Given the description of an element on the screen output the (x, y) to click on. 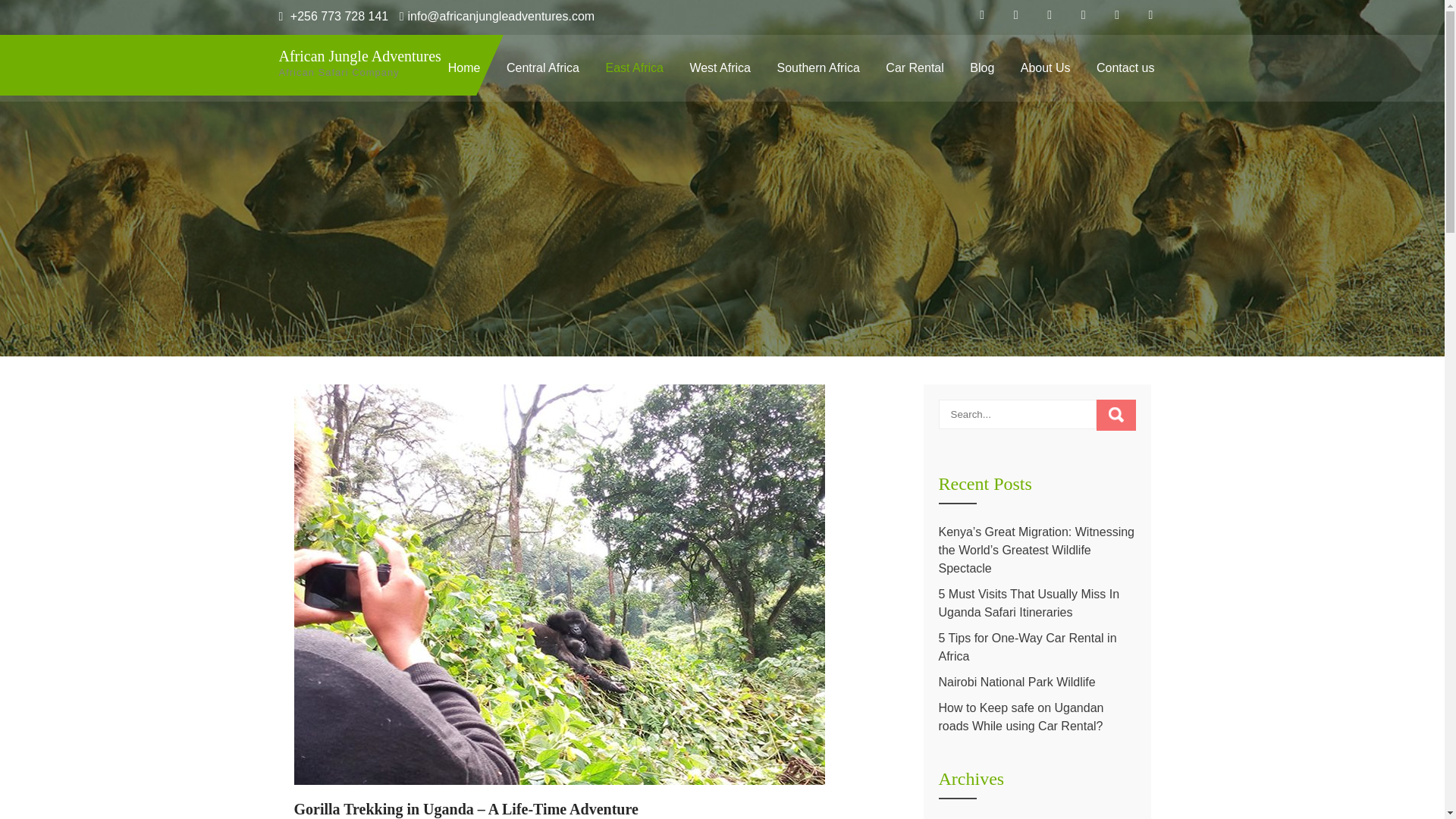
African Jungle Adventures (376, 55)
Search (1115, 414)
Central Africa (543, 68)
Search (1115, 414)
East Africa (634, 68)
